Given the description of an element on the screen output the (x, y) to click on. 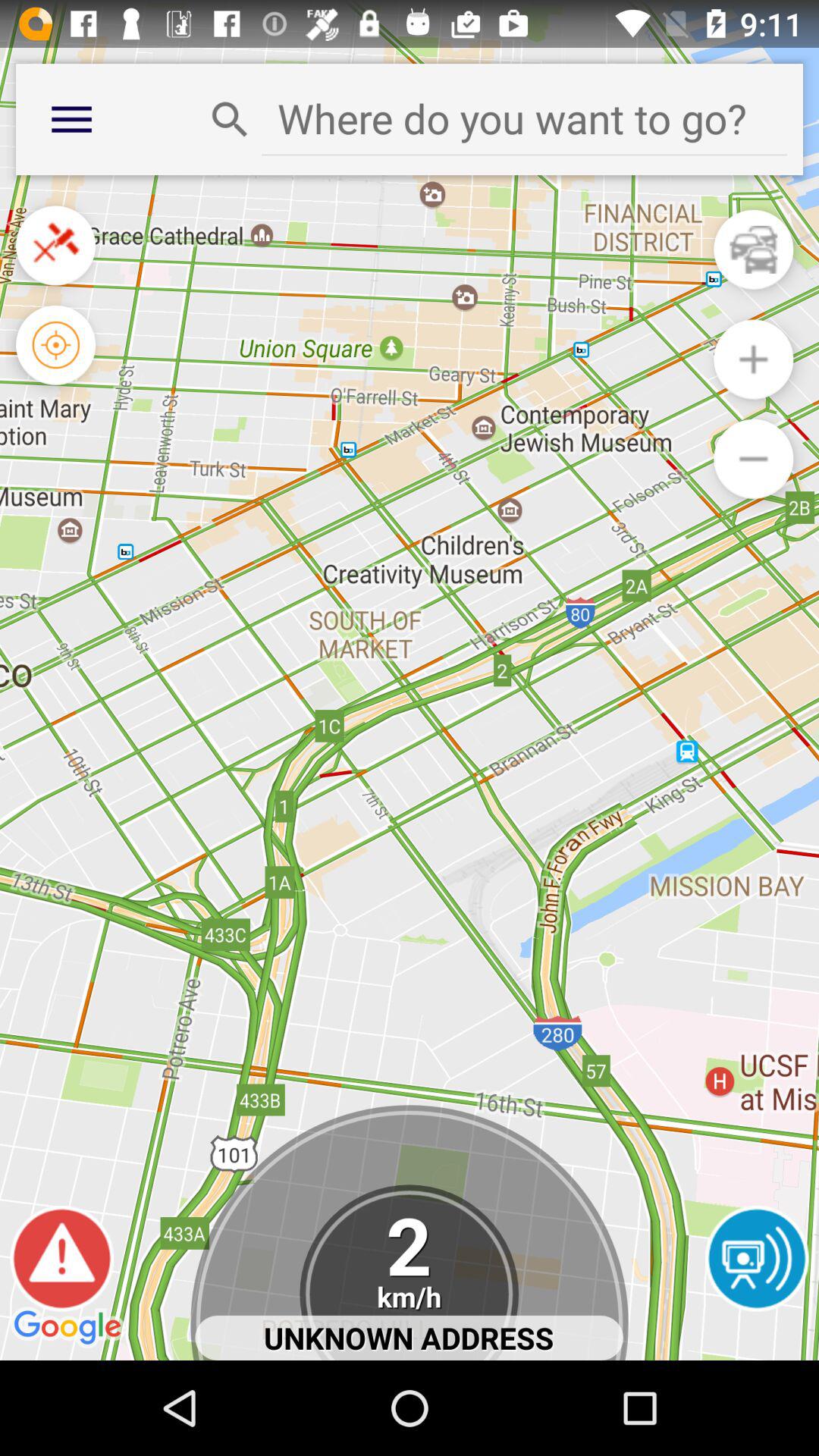
search bar (524, 118)
